Given the description of an element on the screen output the (x, y) to click on. 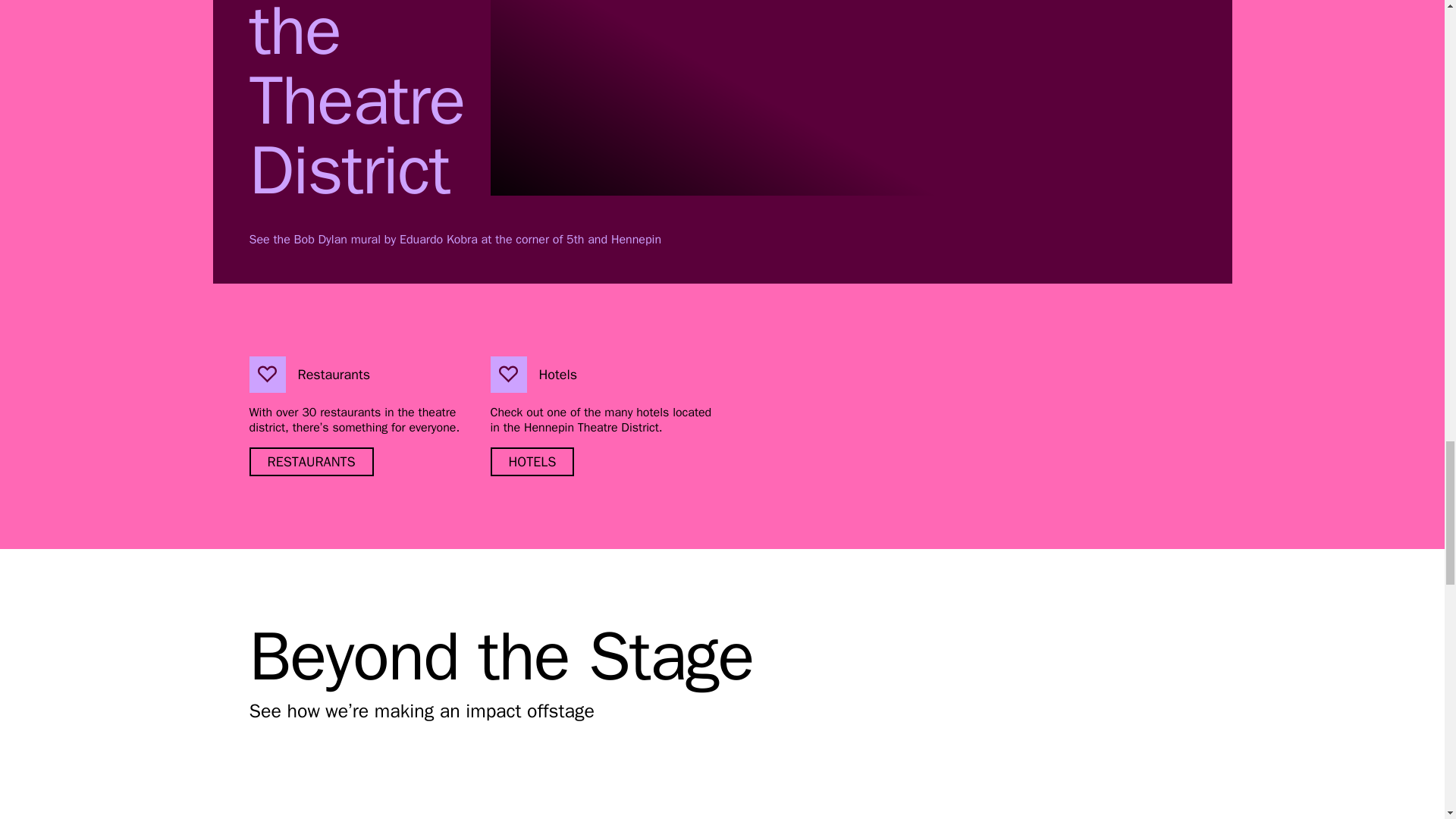
HOTELS (531, 461)
RESTAURANTS (310, 461)
